Given the description of an element on the screen output the (x, y) to click on. 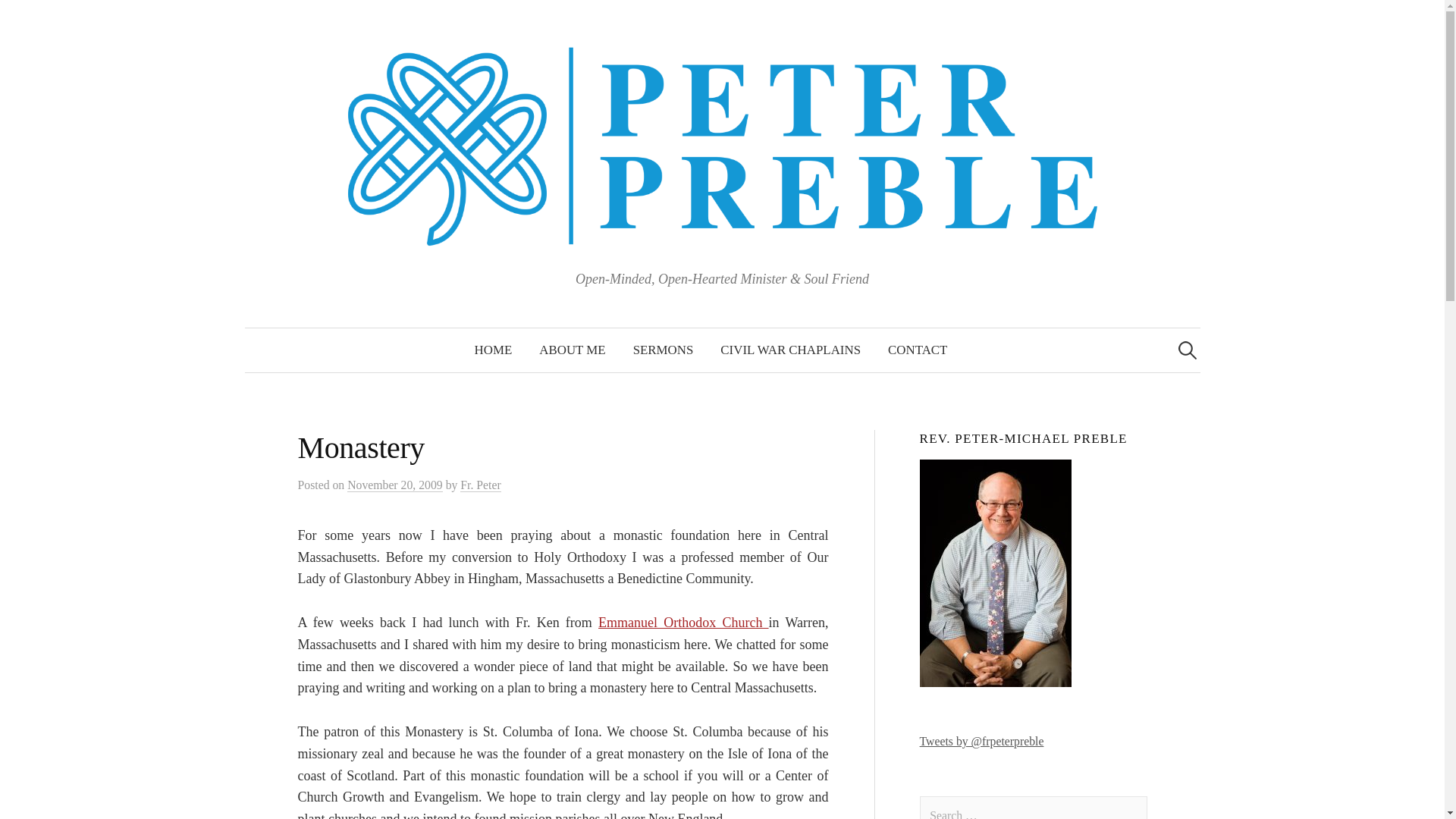
Fr. Peter (480, 485)
View all posts by Fr. Peter (480, 485)
ABOUT ME (571, 350)
SERMONS (663, 350)
Search (18, 18)
November 20, 2009 (394, 485)
CONTACT (917, 350)
Search (40, 18)
CIVIL WAR CHAPLAINS (790, 350)
HOME (493, 350)
